Given the description of an element on the screen output the (x, y) to click on. 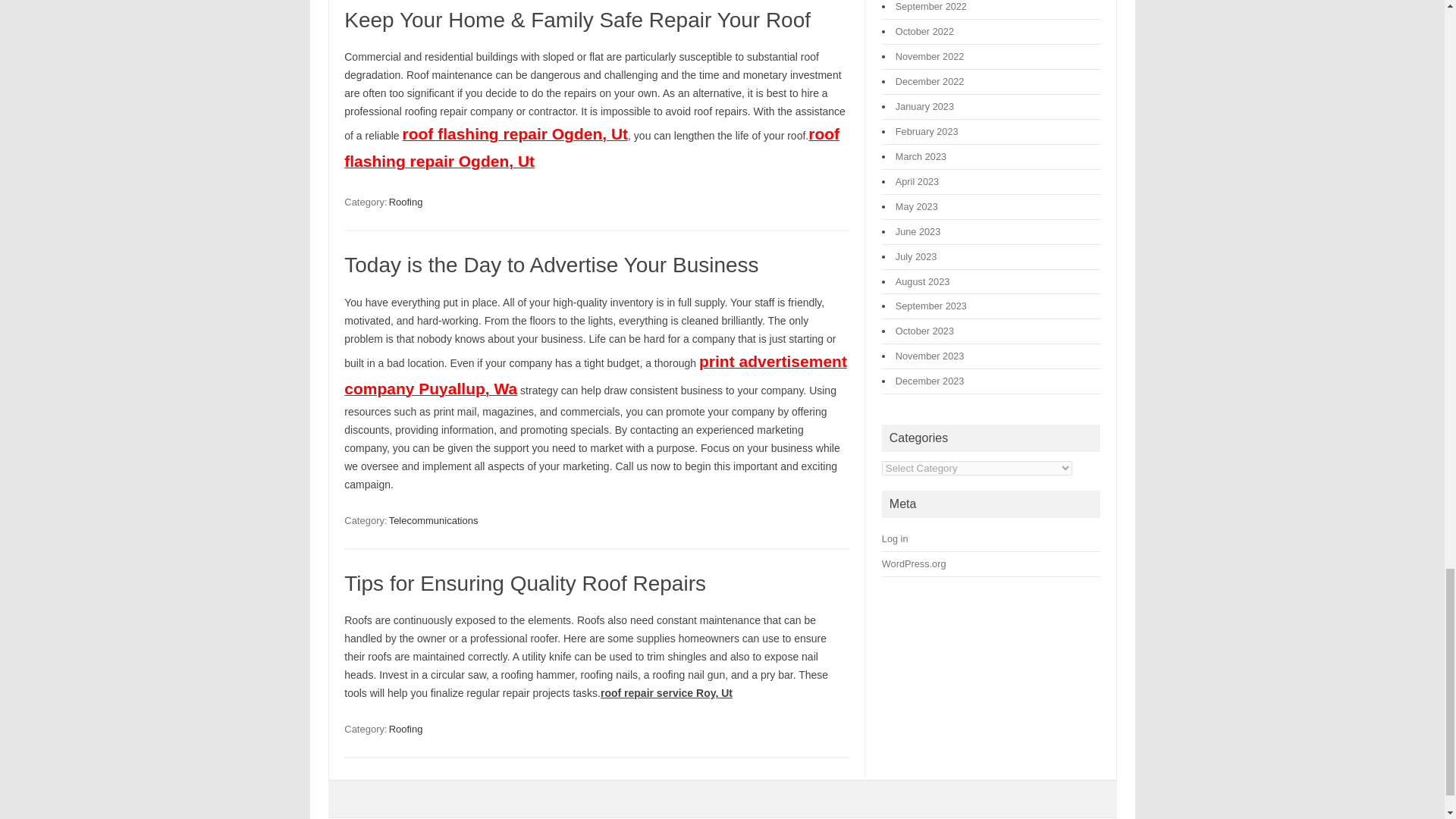
View all posts in Telecommunications (433, 520)
Telecommunications (433, 520)
Tips for Ensuring Quality Roof Repairs (524, 583)
Roofing (406, 728)
View all posts in Roofing (406, 728)
View all posts in Roofing (406, 201)
roof flashing repair Ogden, Ut (591, 148)
roof flashing repair Ogden, Ut (515, 135)
Today is the Day to Advertise Your Business (550, 264)
roof repair service Roy, Ut (665, 693)
Today is the Day to Advertise Your Business (550, 264)
Roofing (406, 201)
Tips for Ensuring Quality Roof Repairs (524, 583)
print advertisement company Puyallup, Wa (595, 376)
